Given the description of an element on the screen output the (x, y) to click on. 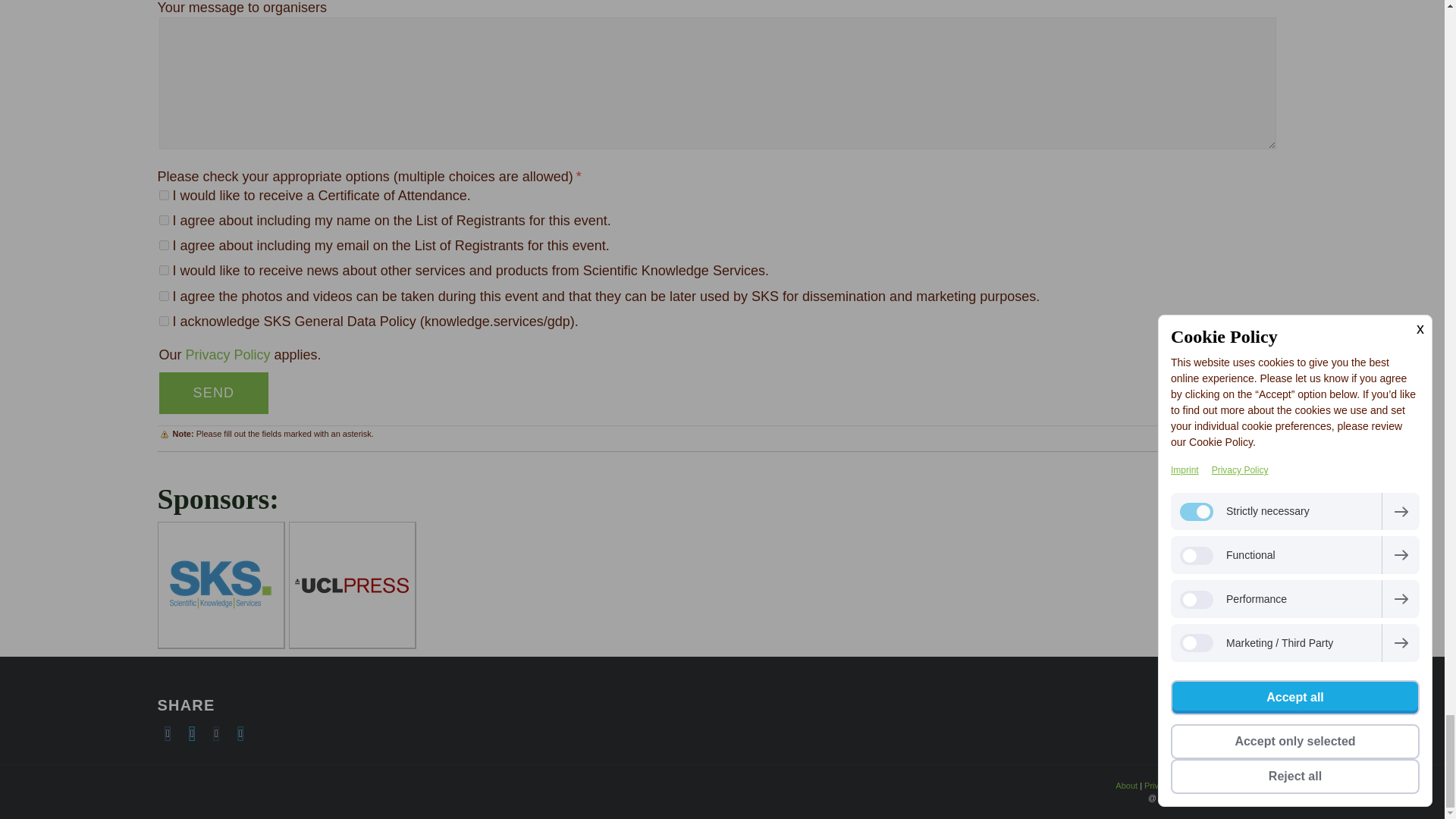
LinkedIn (240, 733)
I would like to receive a Certificate of Attendance. (163, 194)
Cookie Policy (1228, 785)
About (1126, 785)
send (213, 393)
Privacy Policy (1169, 785)
send (213, 393)
Privacy Policy (228, 354)
Email (216, 733)
Sitemap (1275, 785)
Twitter (192, 733)
